Given the description of an element on the screen output the (x, y) to click on. 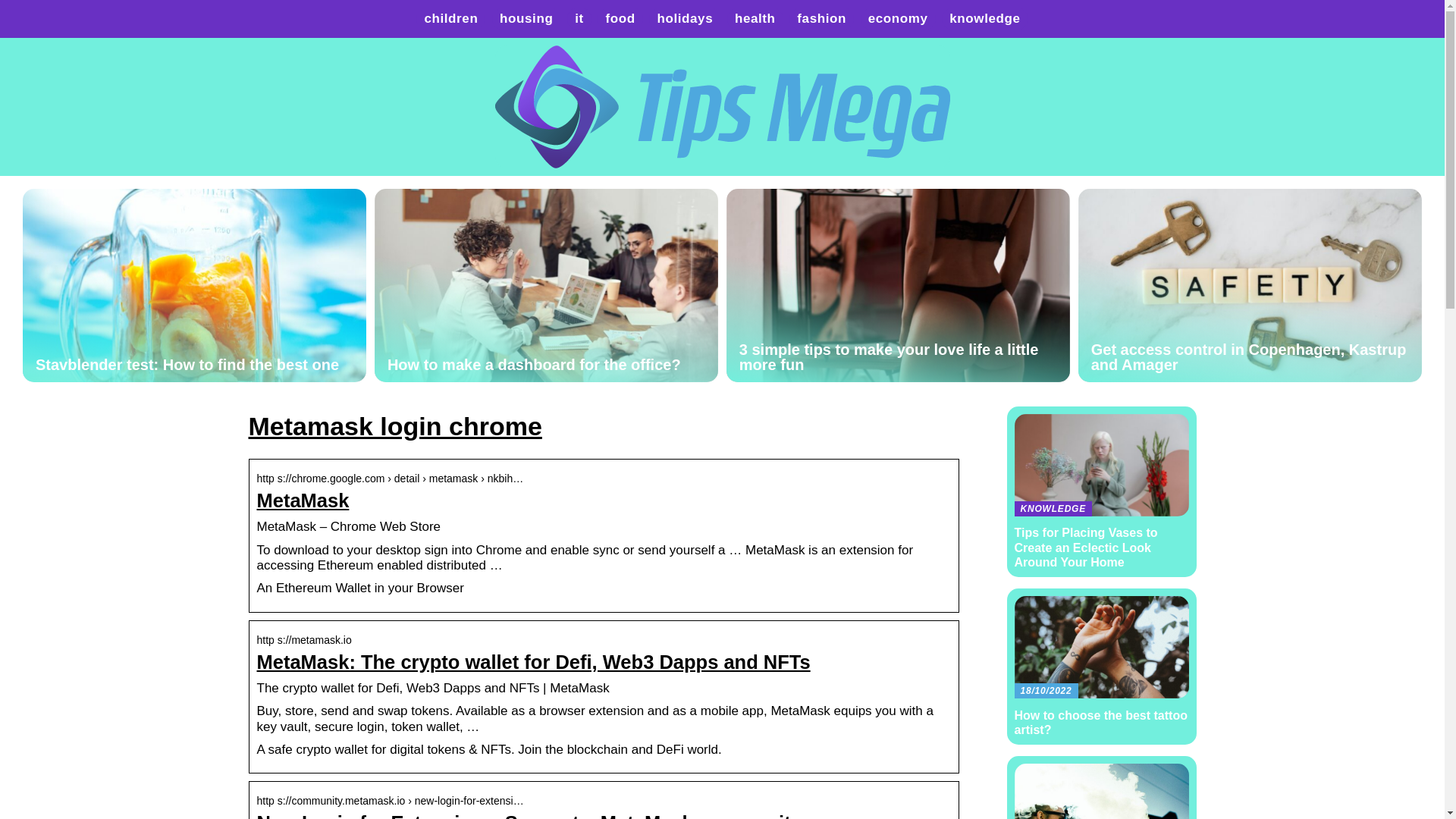
How to make a dashboard for the office? (545, 285)
Get access control in Copenhagen, Kastrup and Amager (1250, 285)
Stavblender test: How to find the best one (194, 285)
holidays (684, 18)
knowledge (984, 18)
3 simple tips to make your love life a little more fun (898, 285)
housing (526, 18)
children (450, 18)
fashion (820, 18)
health (755, 18)
